Given the description of an element on the screen output the (x, y) to click on. 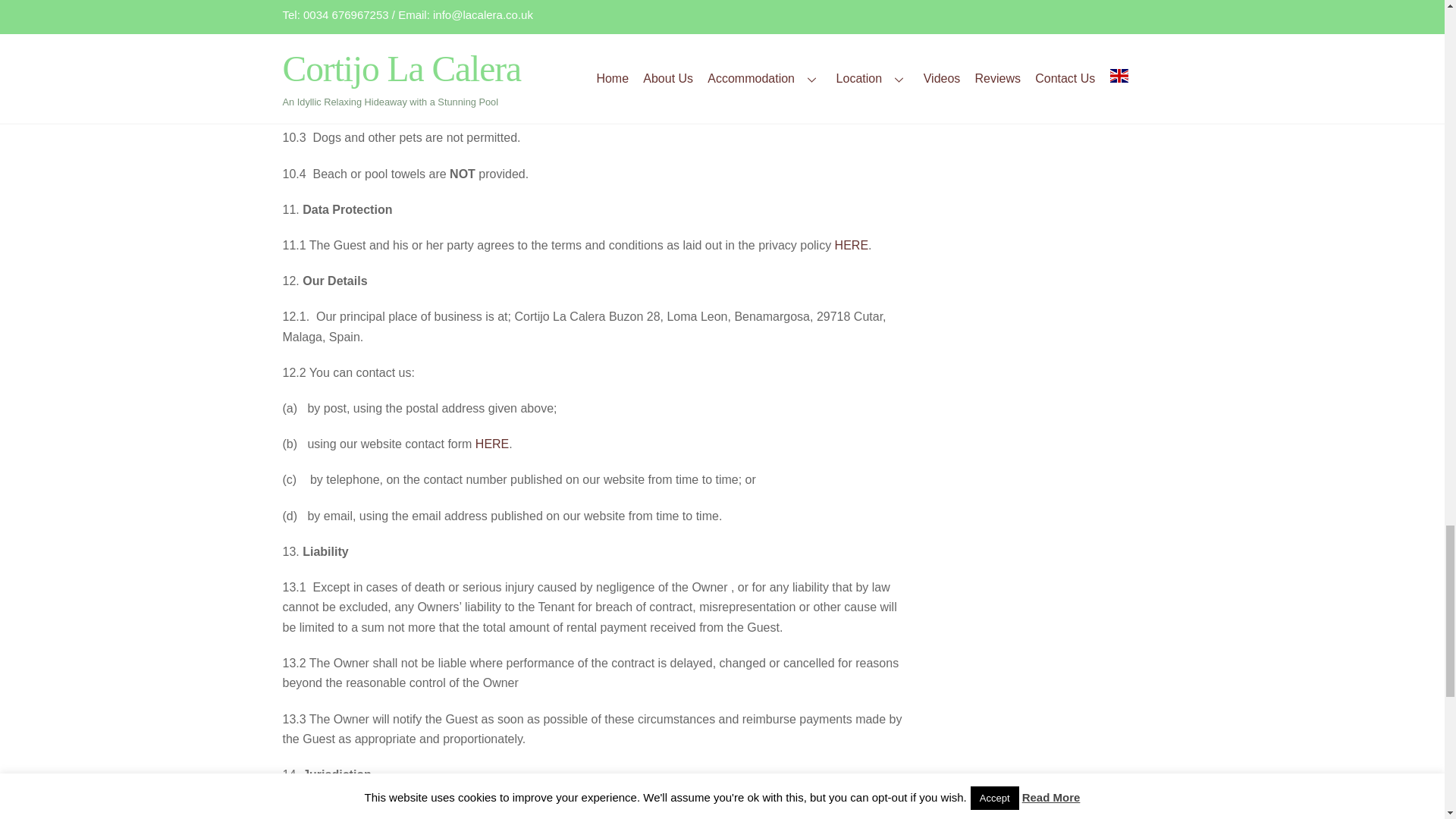
HERE (850, 245)
HERE (492, 443)
